Given the description of an element on the screen output the (x, y) to click on. 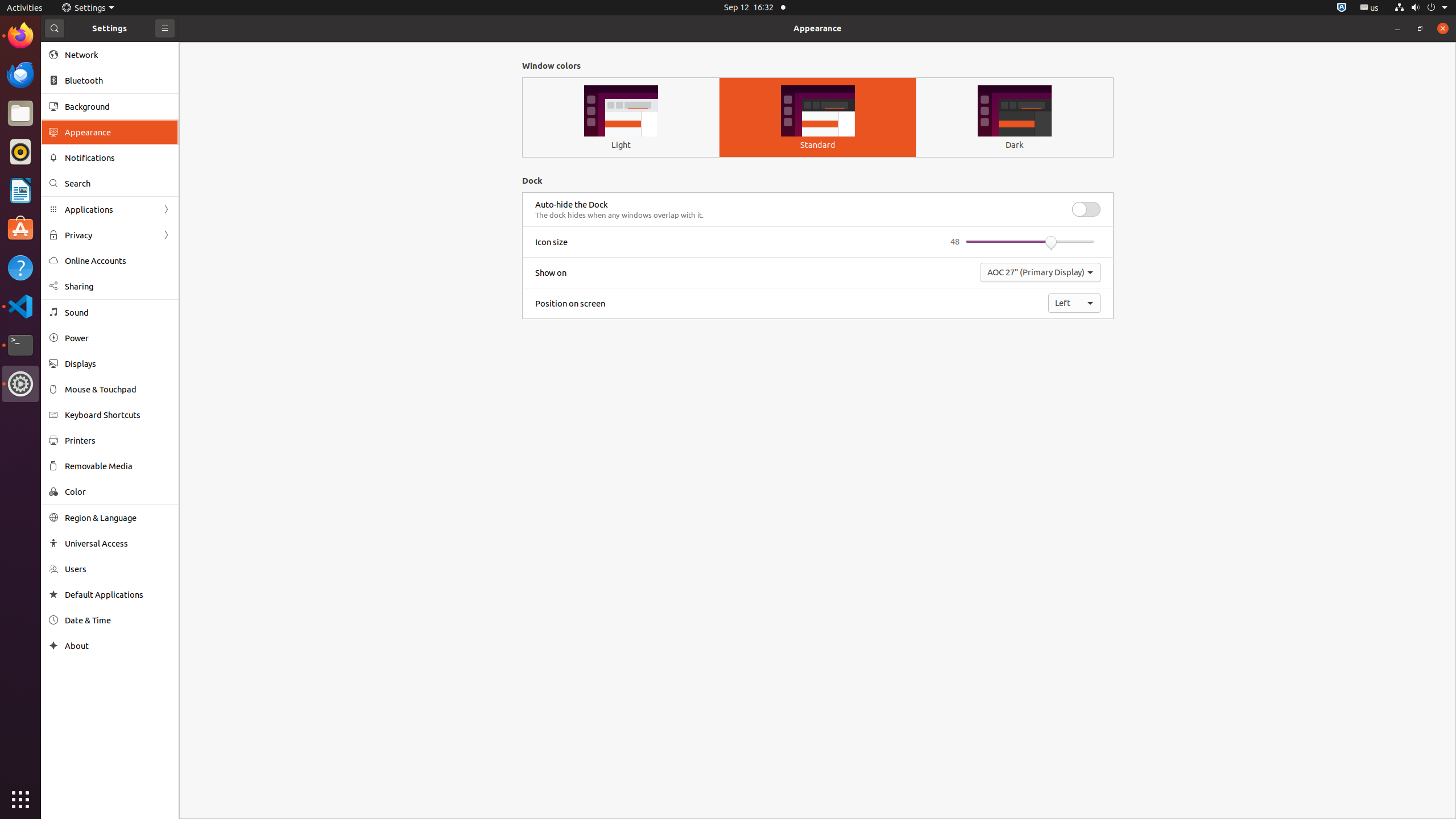
Notifications Element type: label (117, 157)
Forward Element type: icon (165, 235)
Displays Element type: label (117, 363)
AOC 27" (Primary Display) Element type: combo-box (1040, 272)
